Given the description of an element on the screen output the (x, y) to click on. 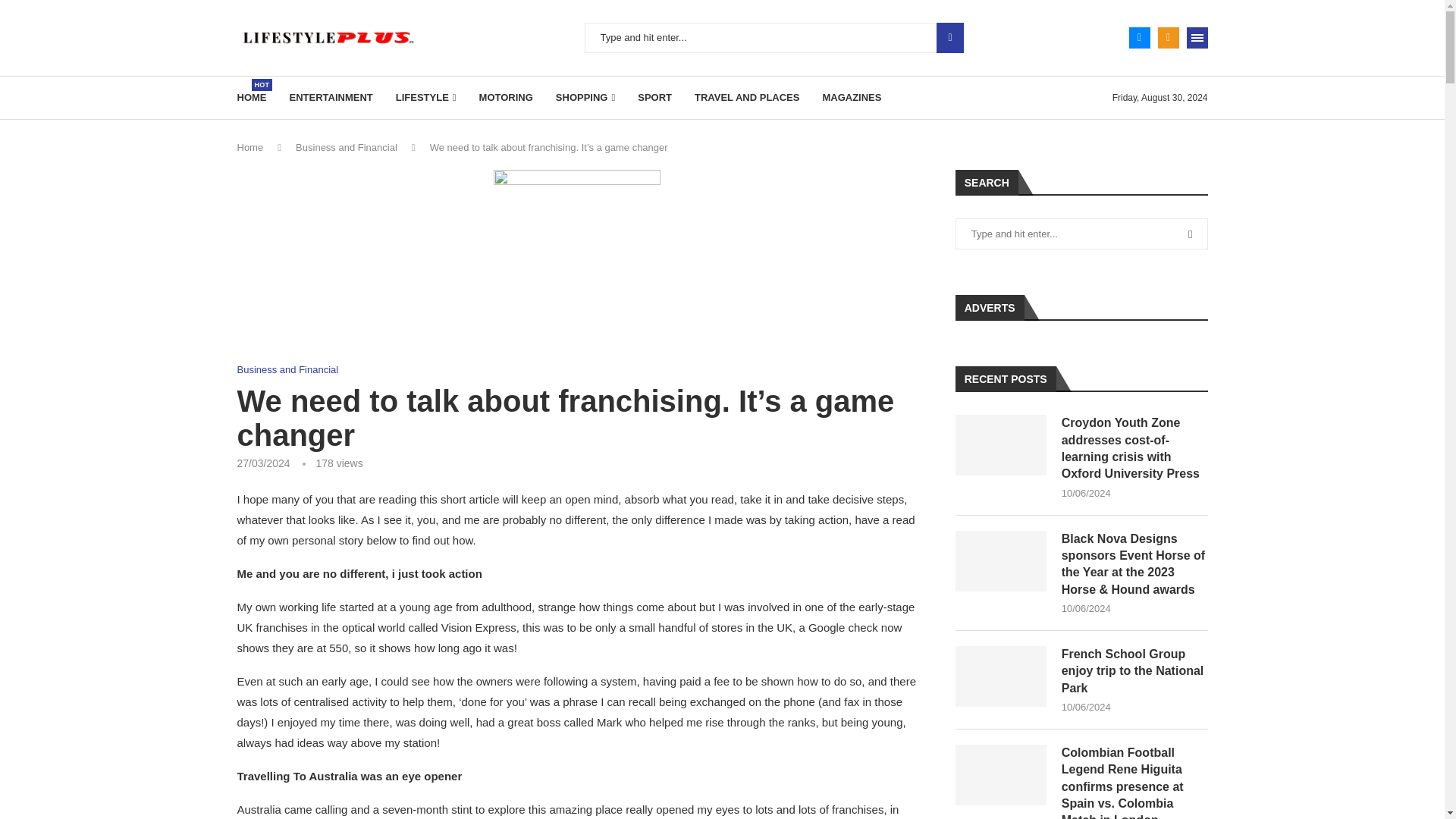
ENTERTAINMENT (330, 97)
MOTORING (505, 97)
TRAVEL AND PLACES (746, 97)
MAGAZINES (851, 97)
SHOPPING (585, 97)
LIFESTYLE (426, 97)
French School Group enjoy trip to the National Park (1000, 676)
French School Group enjoy trip to the National Park (1134, 671)
